Given the description of an element on the screen output the (x, y) to click on. 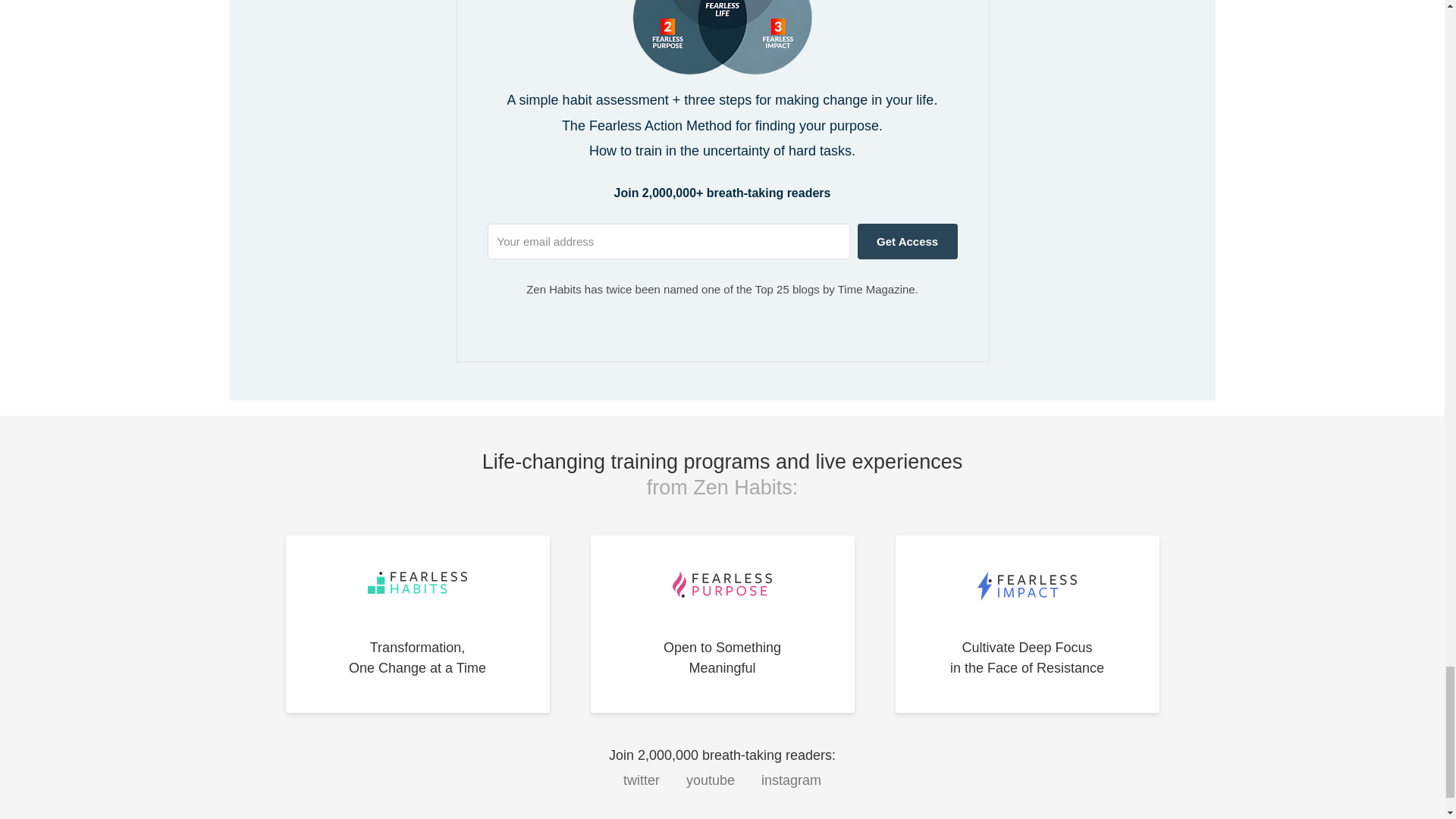
instagram (791, 780)
youtube (710, 780)
Get Access (907, 241)
twitter (641, 780)
